Given the description of an element on the screen output the (x, y) to click on. 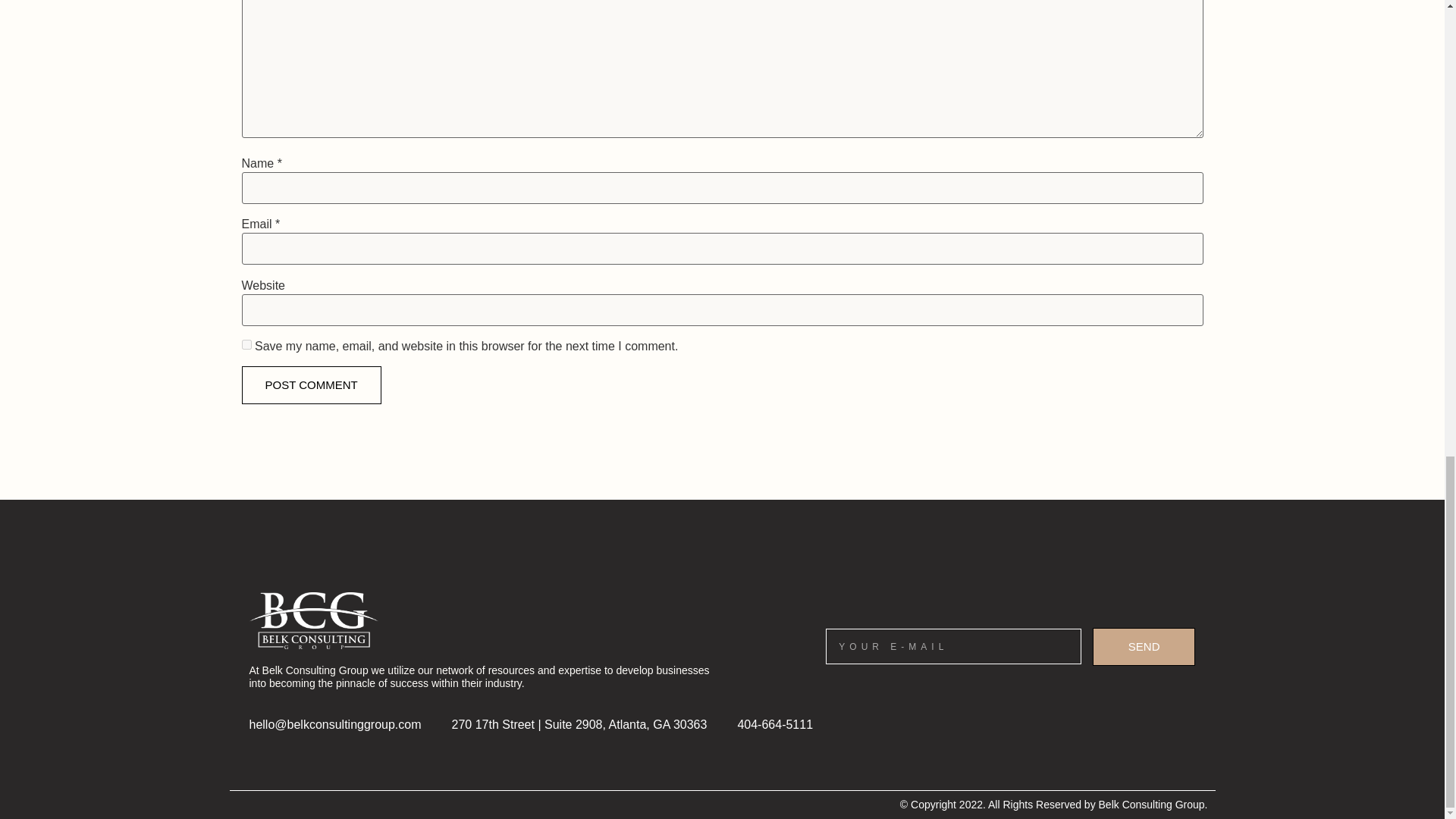
Post Comment (310, 385)
SEND (1144, 646)
Post Comment (310, 385)
yes (245, 344)
